Given the description of an element on the screen output the (x, y) to click on. 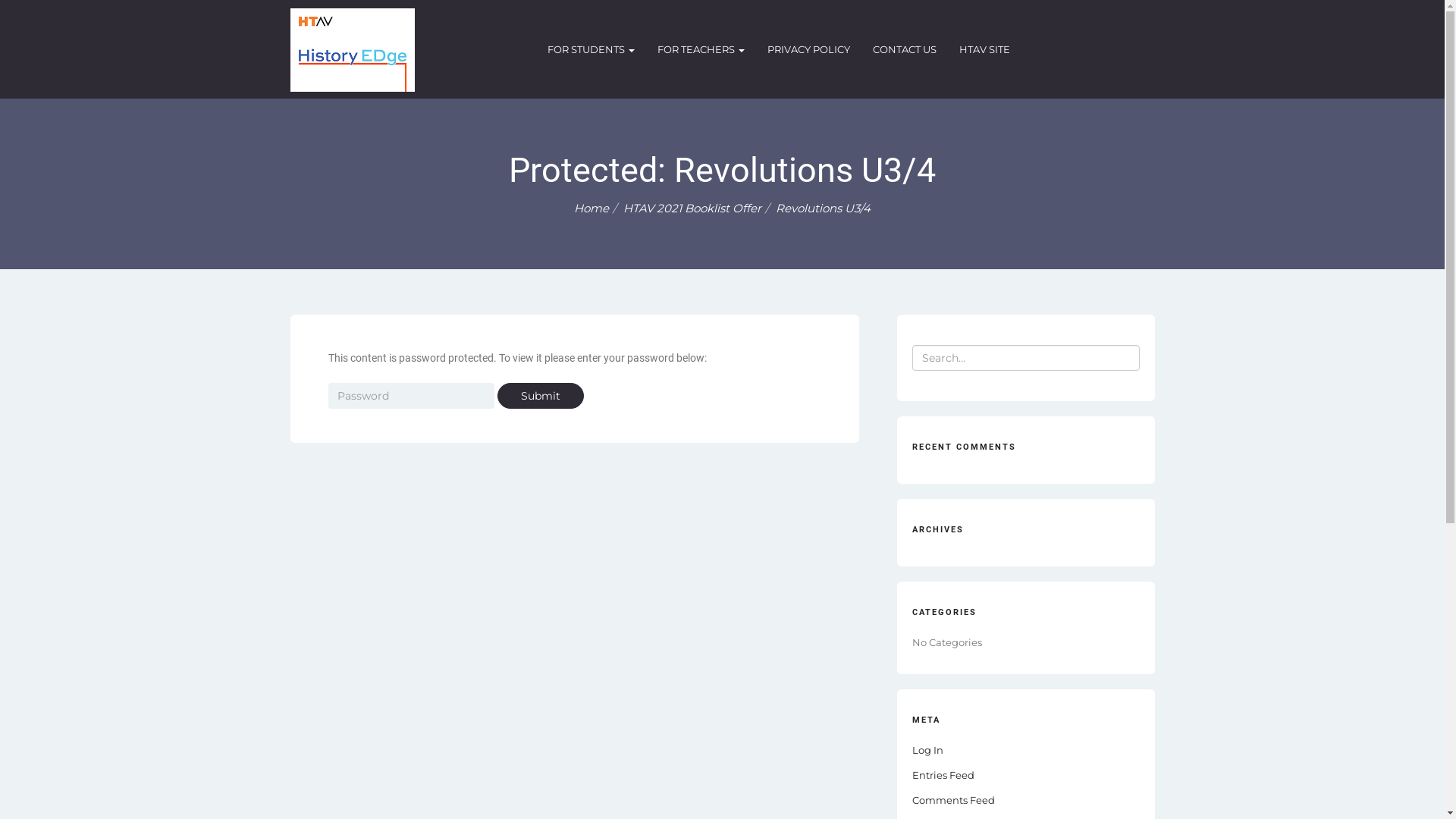
HTAV SITE Element type: text (984, 49)
HTAV 2021 Booklist Offer Element type: text (692, 207)
FOR STUDENTS Element type: text (591, 49)
Entries Feed Element type: text (942, 774)
CONTACT US Element type: text (904, 49)
Submit Element type: text (540, 395)
Log In Element type: text (926, 749)
FOR TEACHERS Element type: text (701, 49)
Search for: Element type: hover (1025, 357)
Search Element type: text (41, 12)
Comments Feed Element type: text (952, 799)
Home Element type: text (591, 207)
PRIVACY POLICY Element type: text (808, 49)
